Given the description of an element on the screen output the (x, y) to click on. 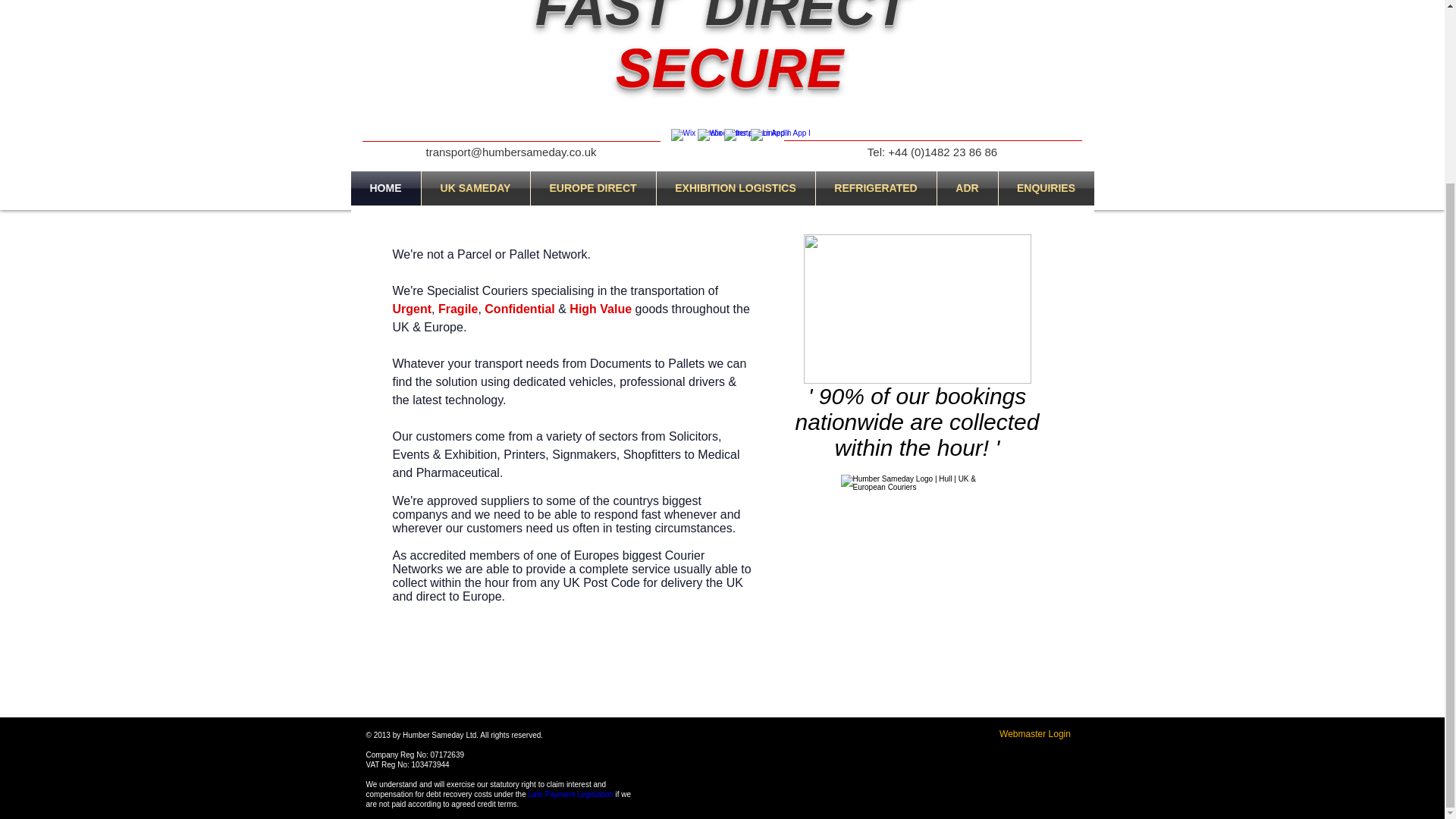
REFRIGERATED (875, 188)
HOME (385, 188)
EUROPE DIRECT (593, 188)
UK SAMEDAY (475, 188)
ENQUIRIES (1045, 188)
Webmaster Login (1034, 734)
EXHIBITION LOGISTICS (735, 188)
Late Payment Legislation (570, 794)
ADR (967, 188)
